Given the description of an element on the screen output the (x, y) to click on. 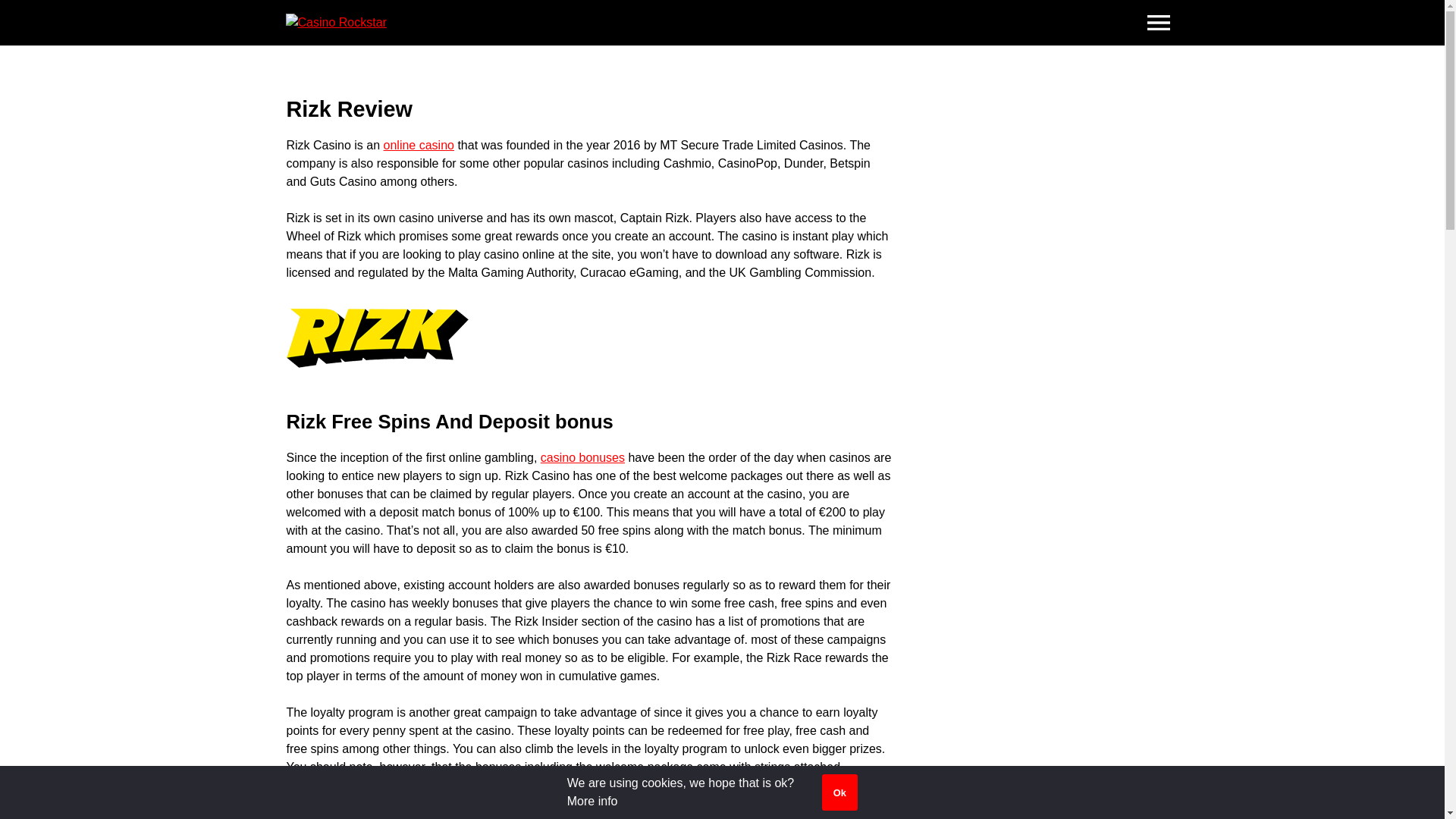
online casino (419, 144)
Ok (839, 791)
More info (592, 800)
casino bonuses (582, 457)
